Given the description of an element on the screen output the (x, y) to click on. 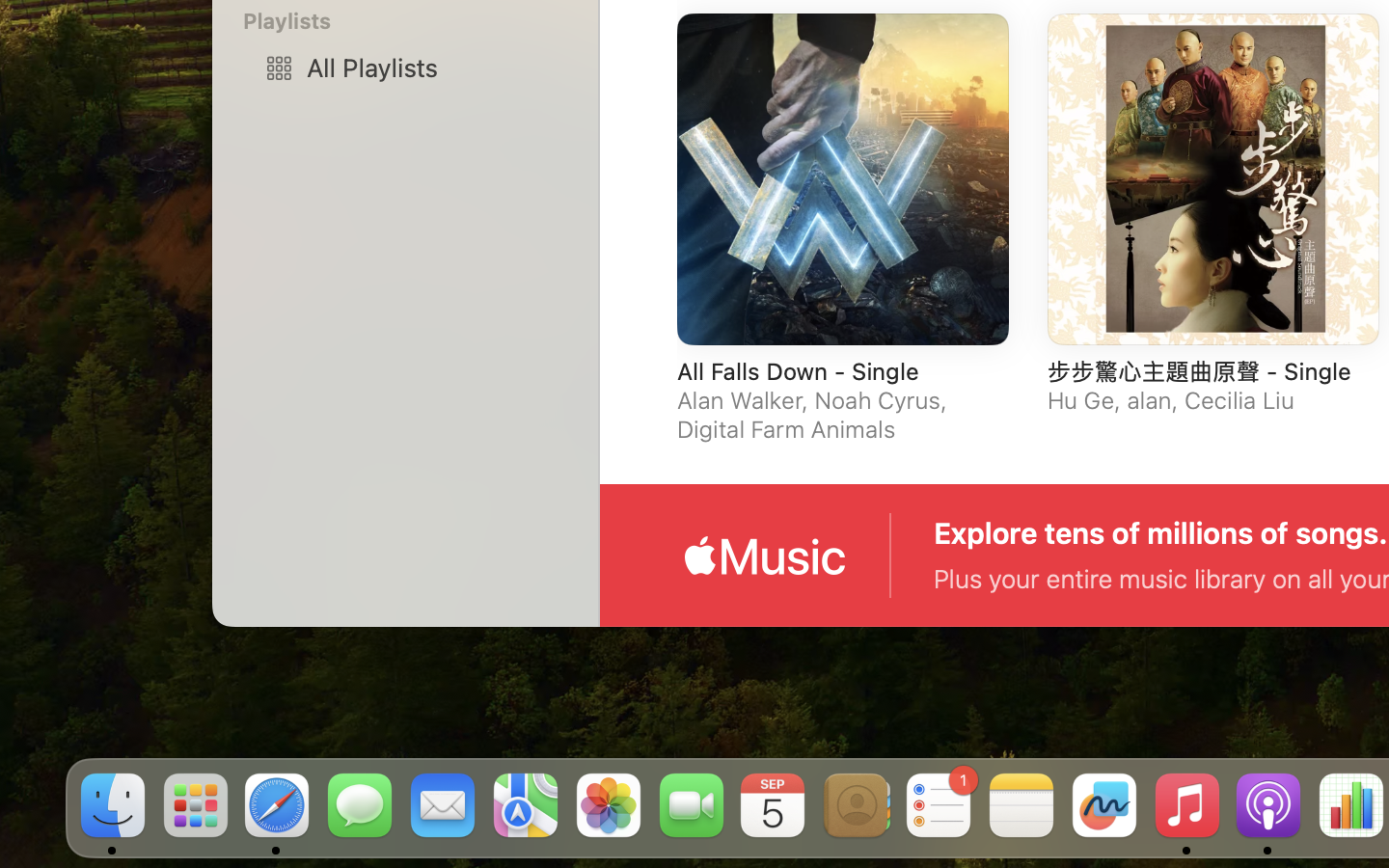
Faded Element type: AXStaticText (830, 630)
All Playlists Element type: AXStaticText (434, 67)
Playlists Element type: AXStaticText (416, 20)
